Given the description of an element on the screen output the (x, y) to click on. 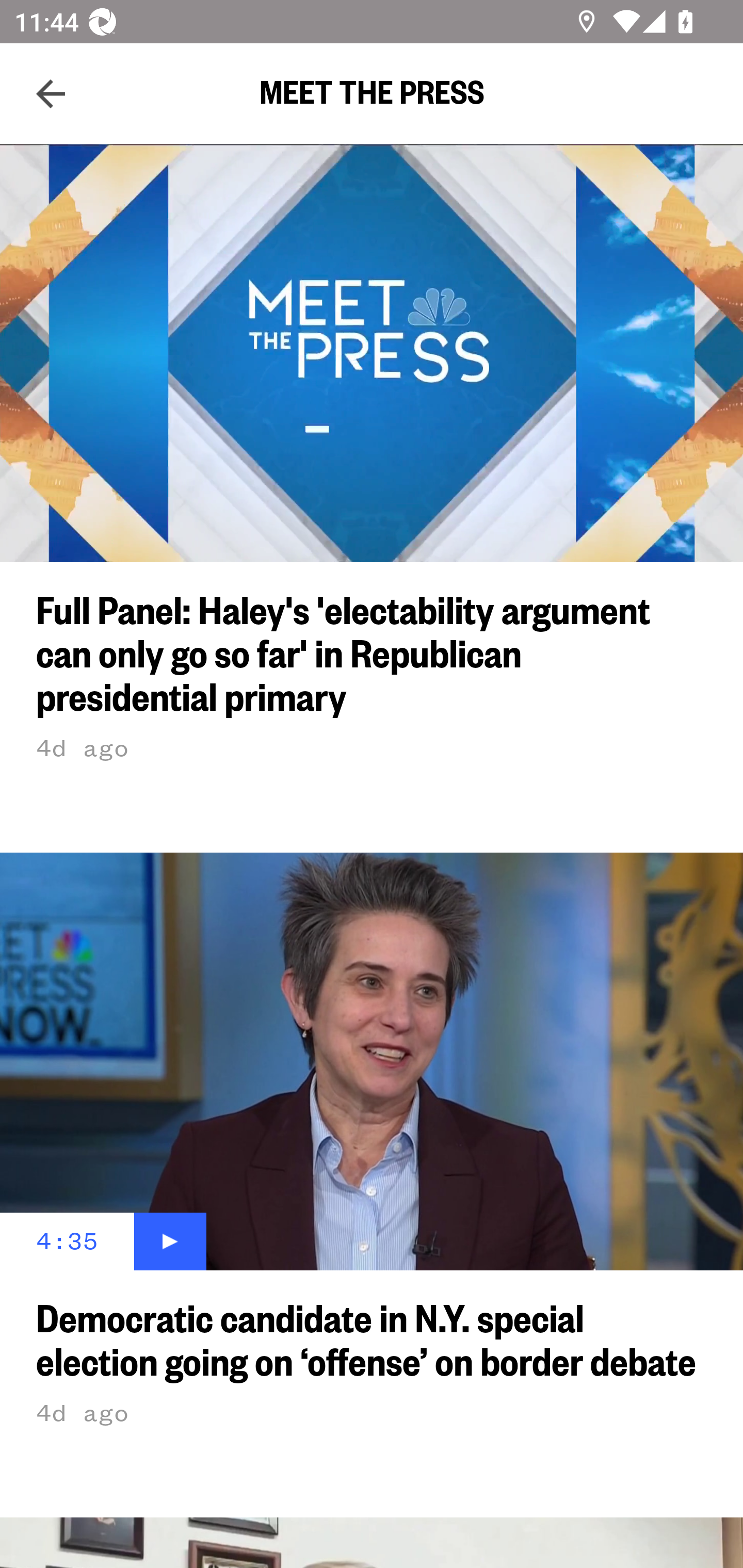
Navigate up (50, 93)
